Given the description of an element on the screen output the (x, y) to click on. 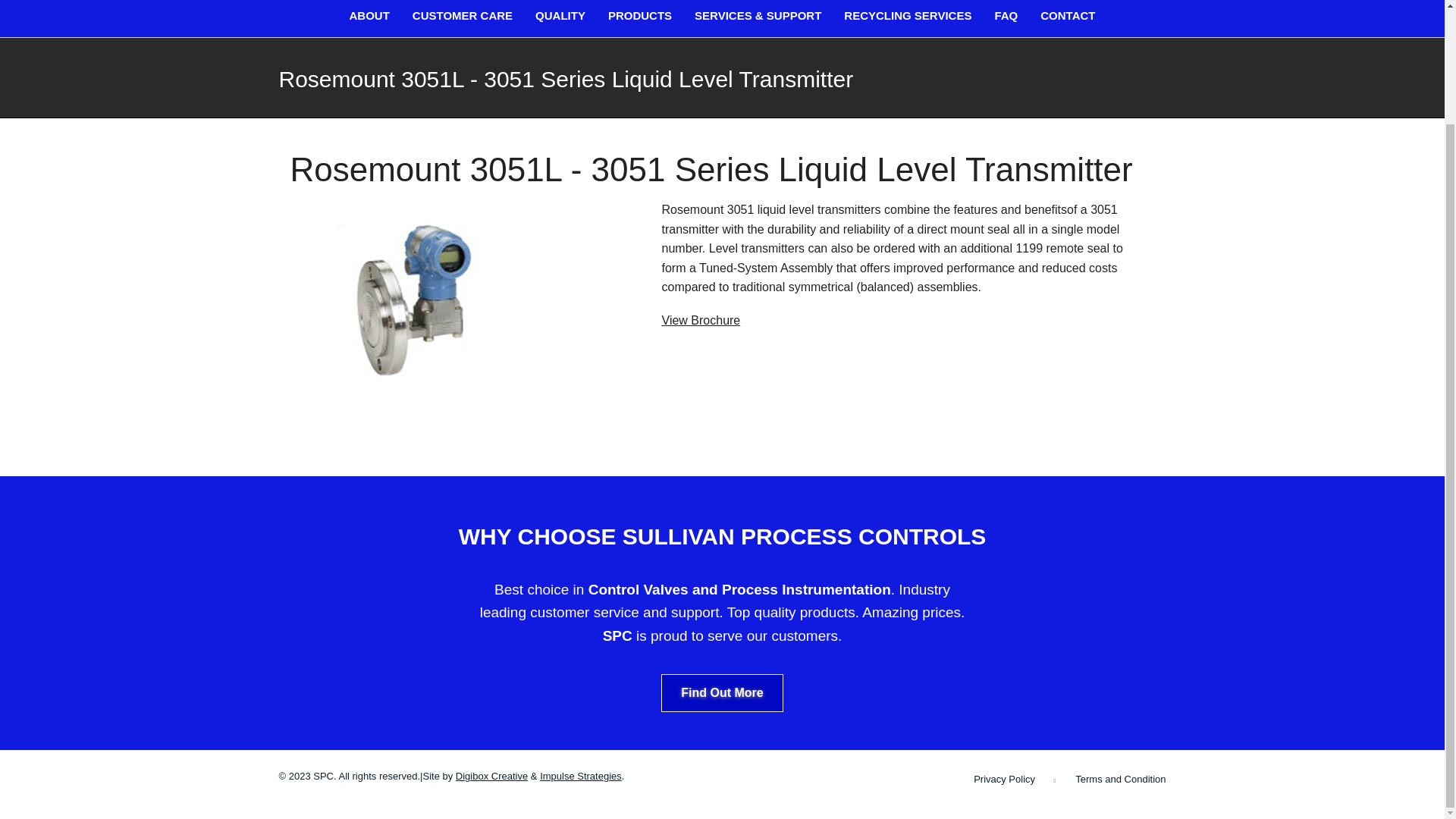
CONTACT (1067, 18)
Digibox Creative (491, 776)
Terms and Condition (1120, 778)
Impulse Strategies (580, 776)
RECYCLING SERVICES (907, 18)
Privacy Policy (1004, 778)
About (368, 18)
View Brochure (700, 319)
ABOUT (368, 18)
PRODUCTS (639, 18)
QUALITY (560, 18)
Find Out More (722, 692)
CUSTOMER CARE (462, 18)
